Given the description of an element on the screen output the (x, y) to click on. 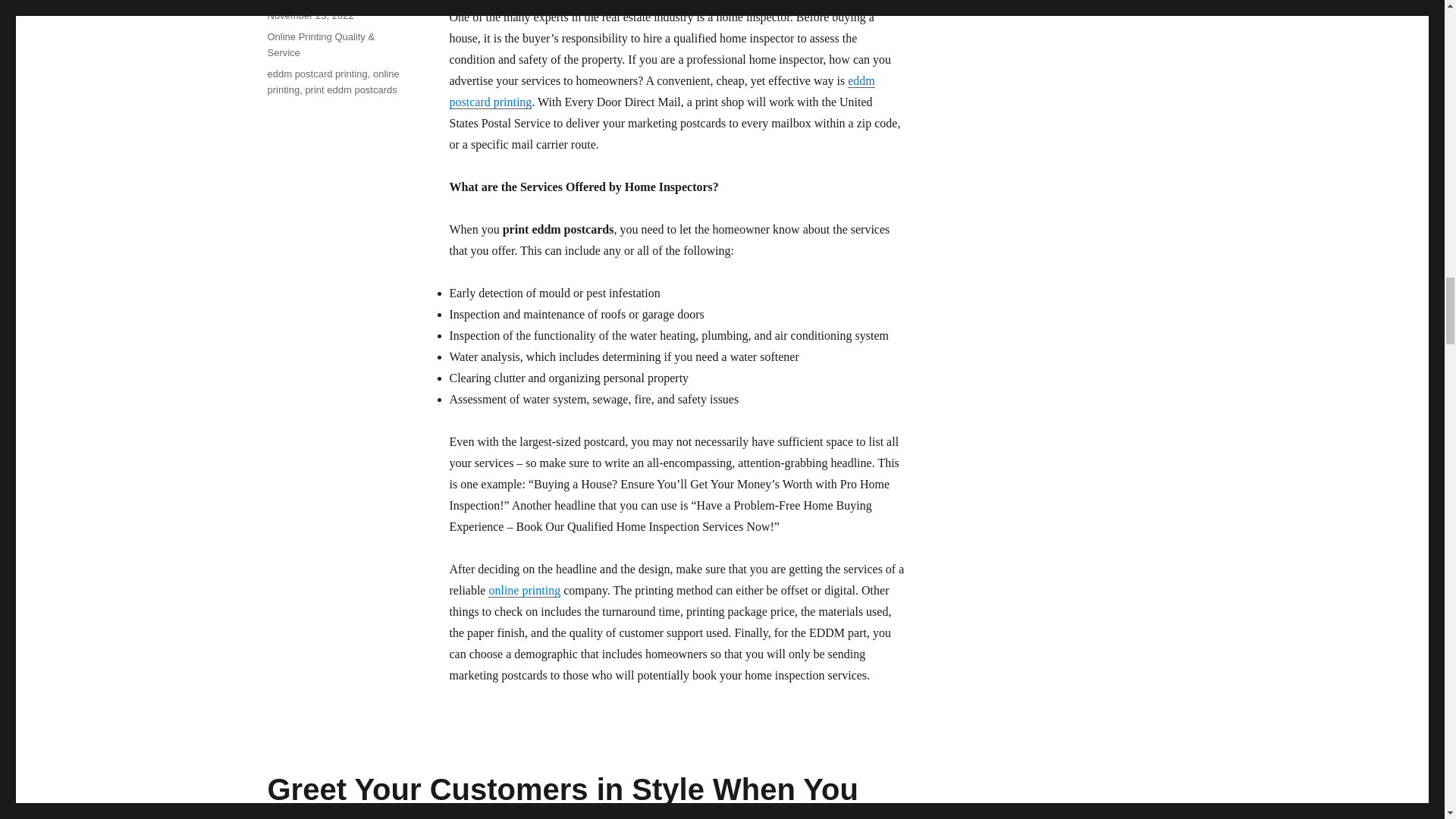
eddm postcard printing (661, 91)
November 23, 2022 (309, 15)
online printing (332, 81)
print eddm postcards (350, 89)
online printing (523, 590)
eddm postcard printing (316, 73)
